Given the description of an element on the screen output the (x, y) to click on. 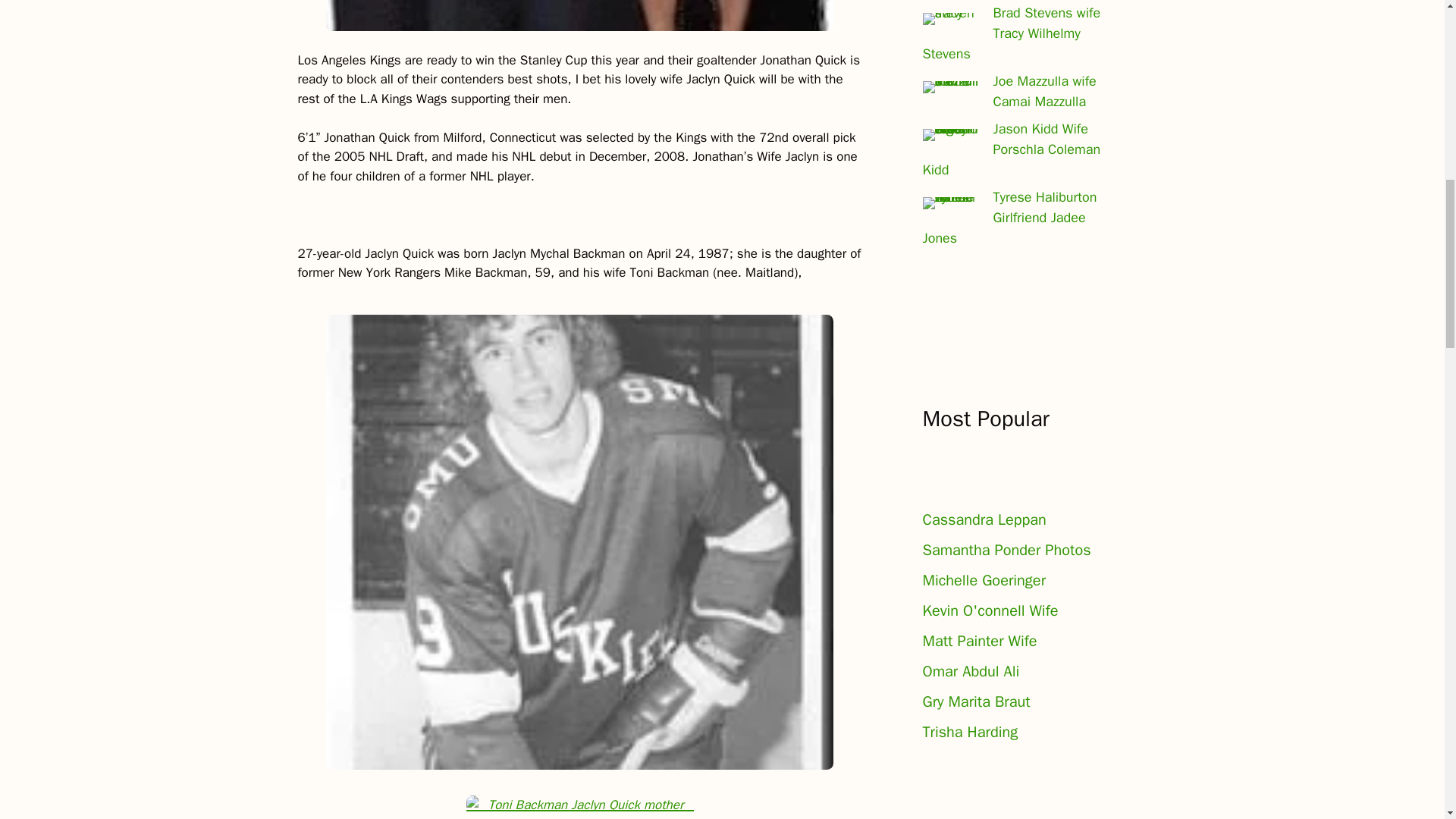
Toni Backman Jaclyn Quick Mother (579, 804)
Nhl Jonathan Quick Wife Jaclyn Backman Quick (580, 15)
